Given the description of an element on the screen output the (x, y) to click on. 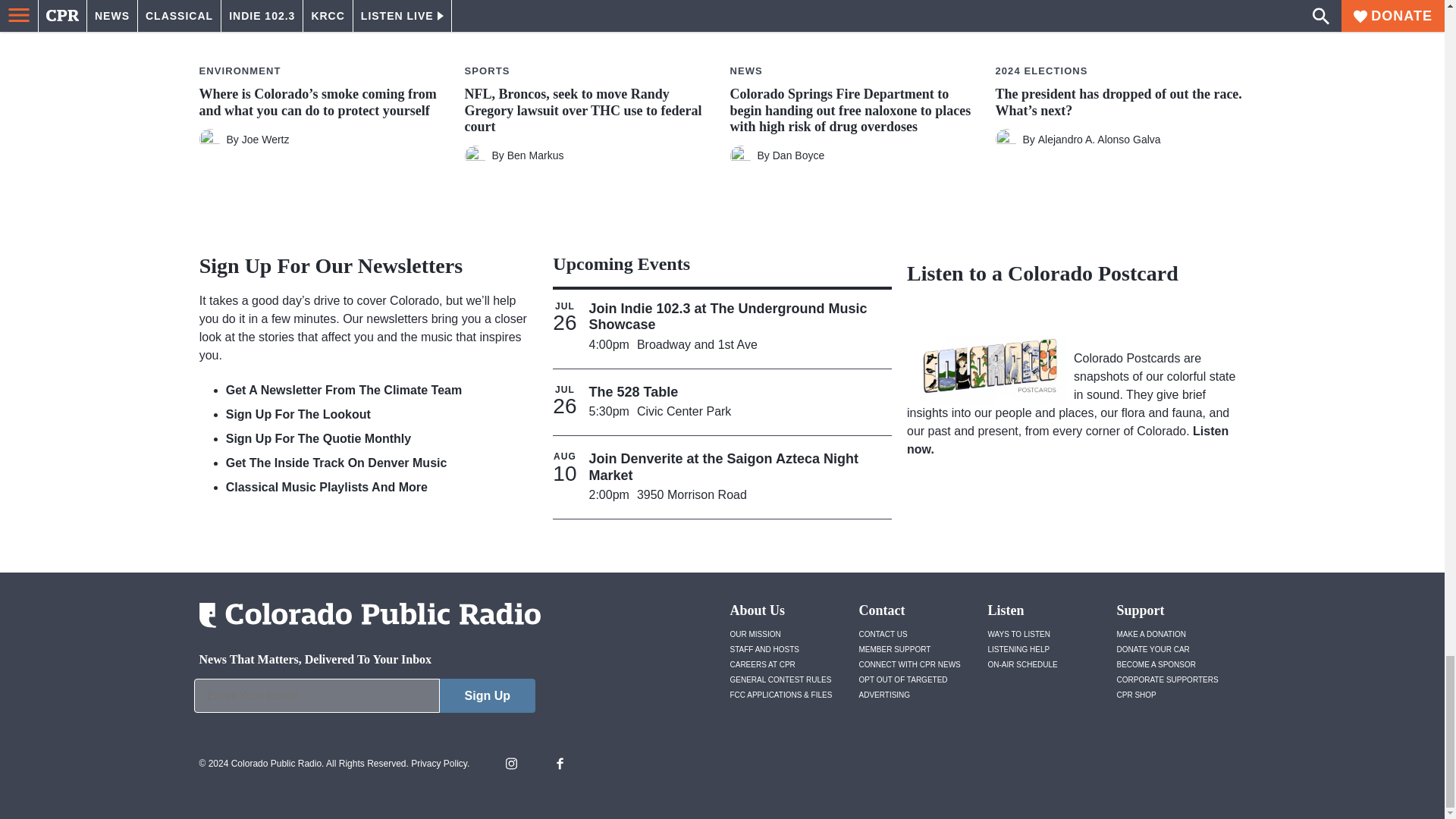
footer (364, 699)
